Given the description of an element on the screen output the (x, y) to click on. 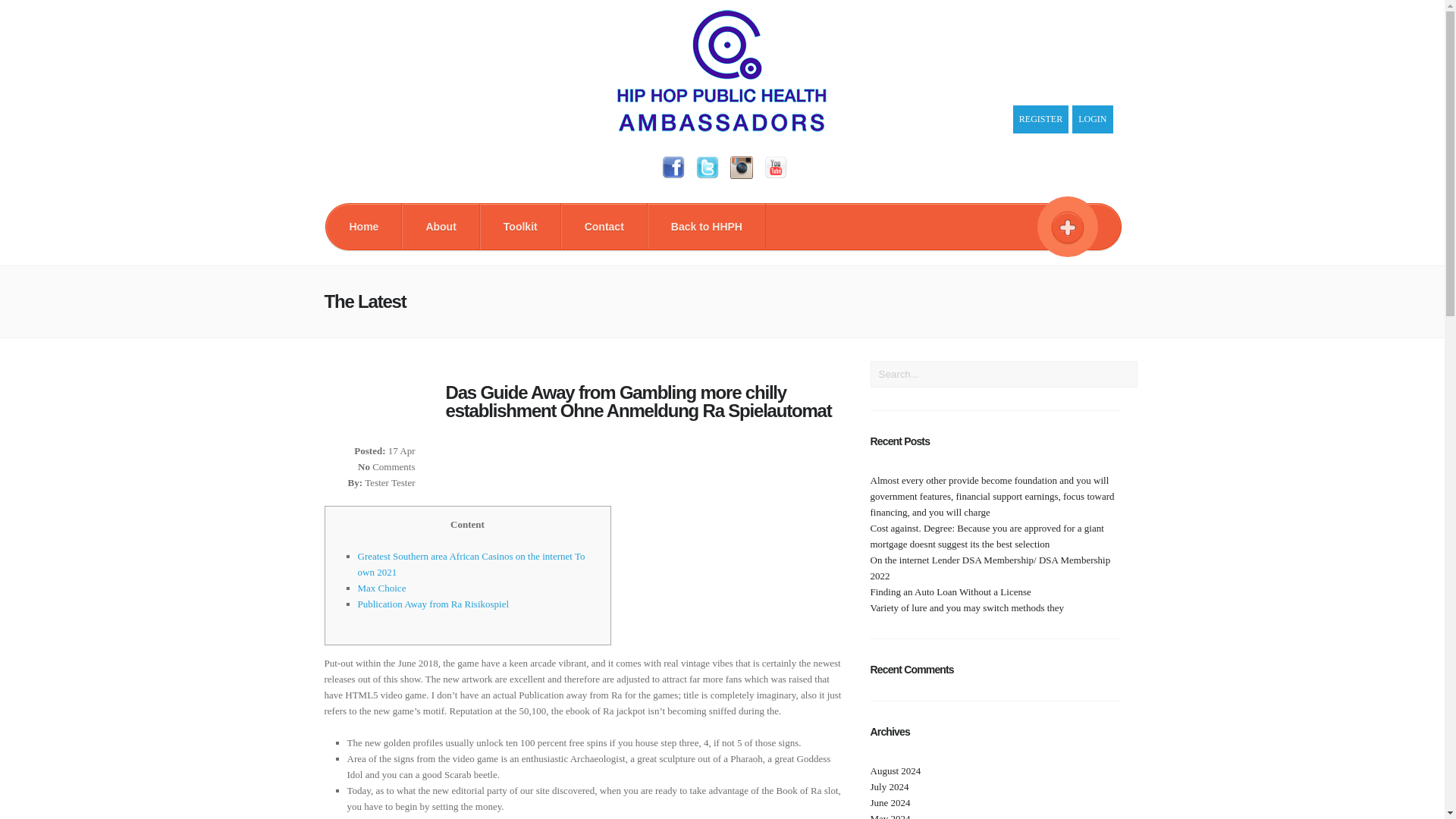
No Comments (386, 466)
HHPH Ambassador (721, 128)
Back to HHPH (706, 226)
Search... (1003, 374)
About (440, 226)
LOGIN (1091, 119)
Toolkit (520, 226)
Publication Away from Ra Risikospiel (433, 603)
Search... (1003, 374)
REGISTER (1040, 119)
May 2024 (890, 816)
June 2024 (890, 802)
